Given the description of an element on the screen output the (x, y) to click on. 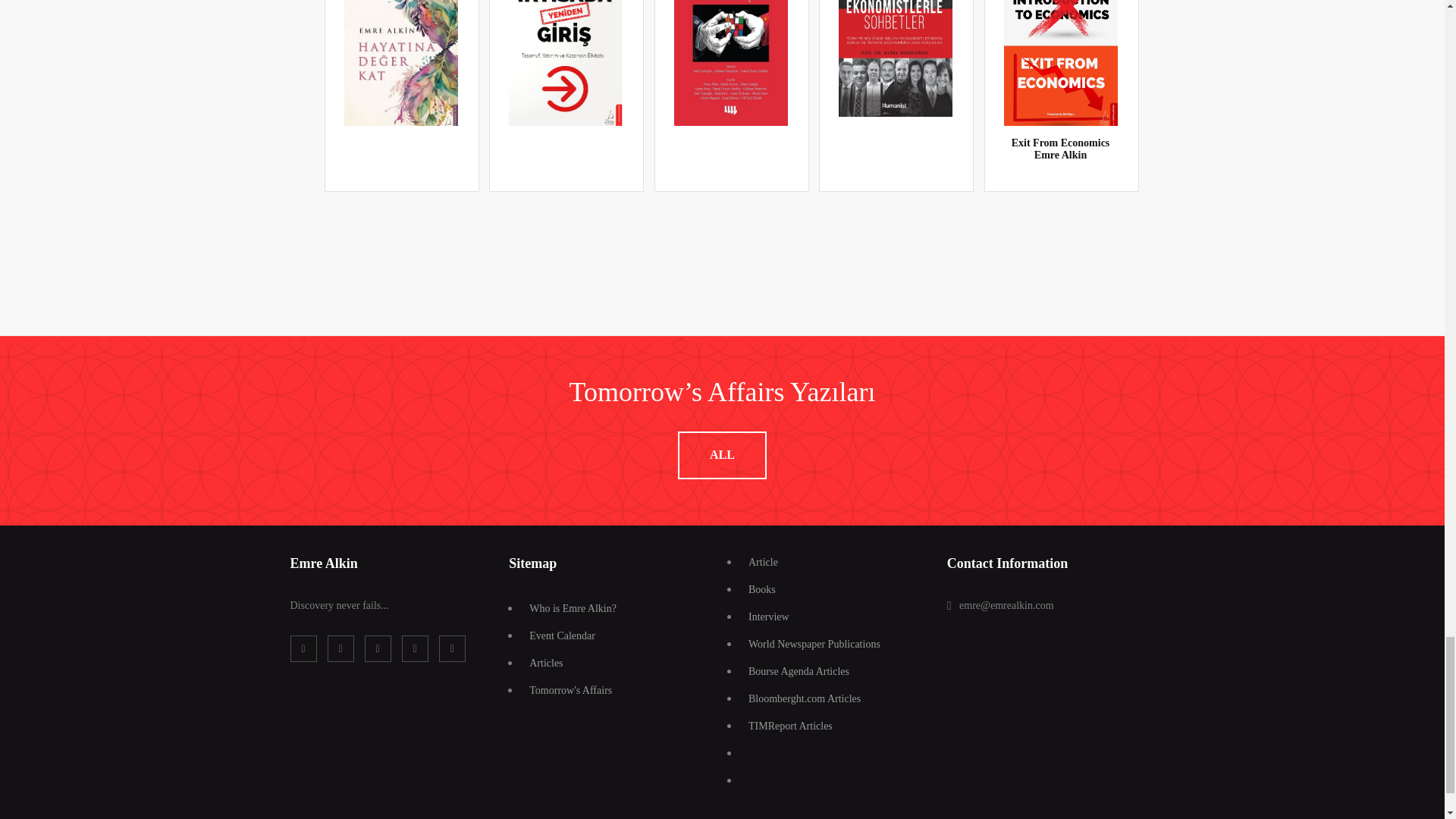
Linkedin (377, 648)
Facebook (302, 648)
Twitter (340, 648)
